Given the description of an element on the screen output the (x, y) to click on. 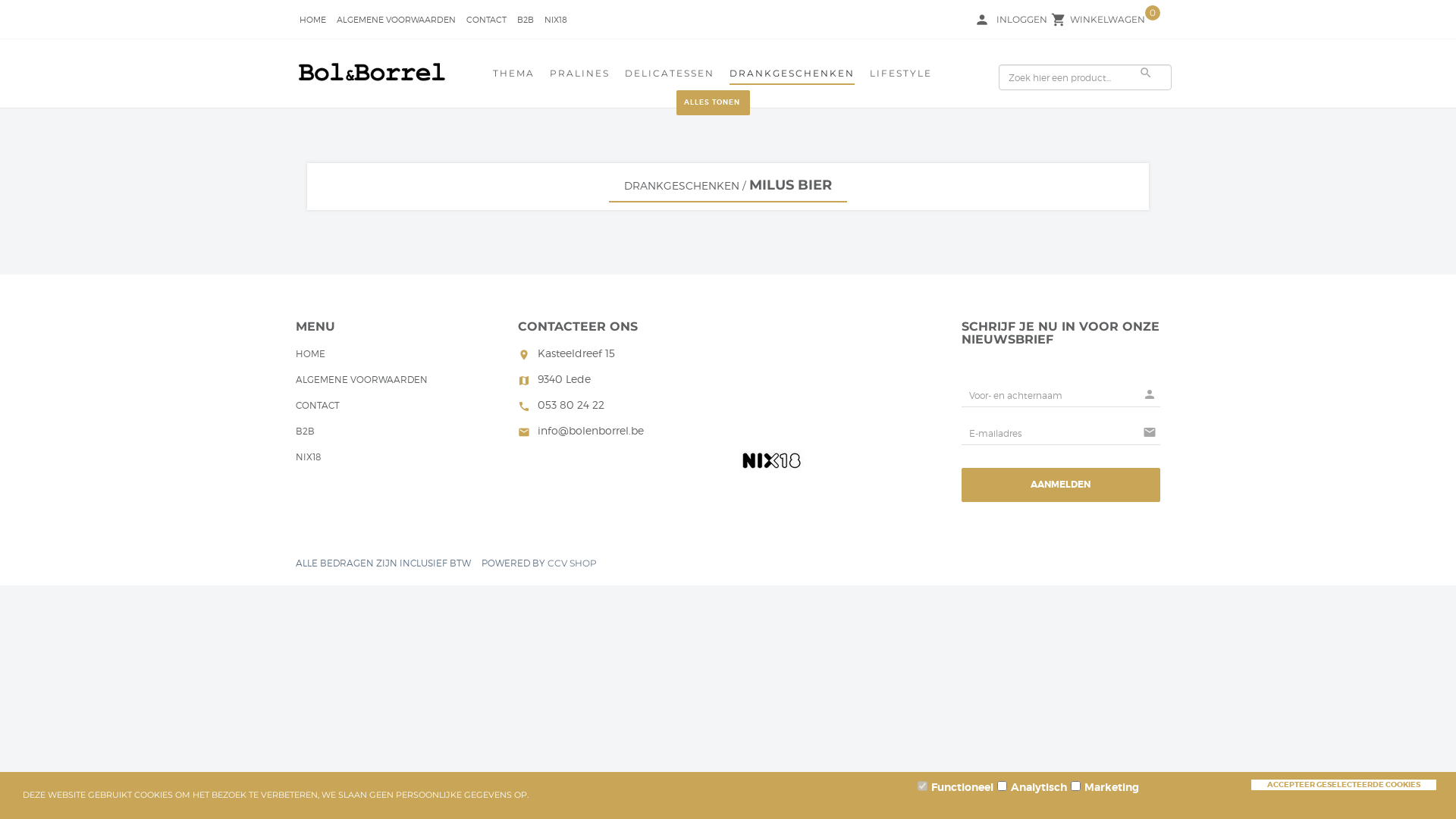
THEMA Element type: text (513, 74)
HOME Element type: text (312, 21)
AANMELDEN Element type: text (1061, 484)
DRANKGESCHENKEN Element type: text (681, 184)
LIFESTYLE Element type: text (900, 74)
DELICATESSEN Element type: text (669, 74)
search Element type: text (1145, 72)
WINKELWAGEN Element type: text (1107, 21)
B2B Element type: text (304, 432)
PRALINES Element type: text (579, 74)
NIX18 Element type: text (555, 21)
NIX18 Element type: text (307, 458)
CONTACT Element type: text (486, 21)
CCV SHOP Element type: text (571, 562)
INLOGGEN Element type: text (1021, 20)
local_grocery_storeWINKELWAGEN
0 Element type: text (1107, 19)
ALGEMENE VOORWAARDEN Element type: text (361, 381)
HOME Element type: text (310, 355)
B2B Element type: text (525, 21)
DRANKGESCHENKEN Element type: text (791, 74)
ALLES TONEN Element type: text (712, 102)
CONTACT Element type: text (317, 406)
person Element type: text (981, 19)
ALGEMENE VOORWAARDEN Element type: text (395, 21)
